Given the description of an element on the screen output the (x, y) to click on. 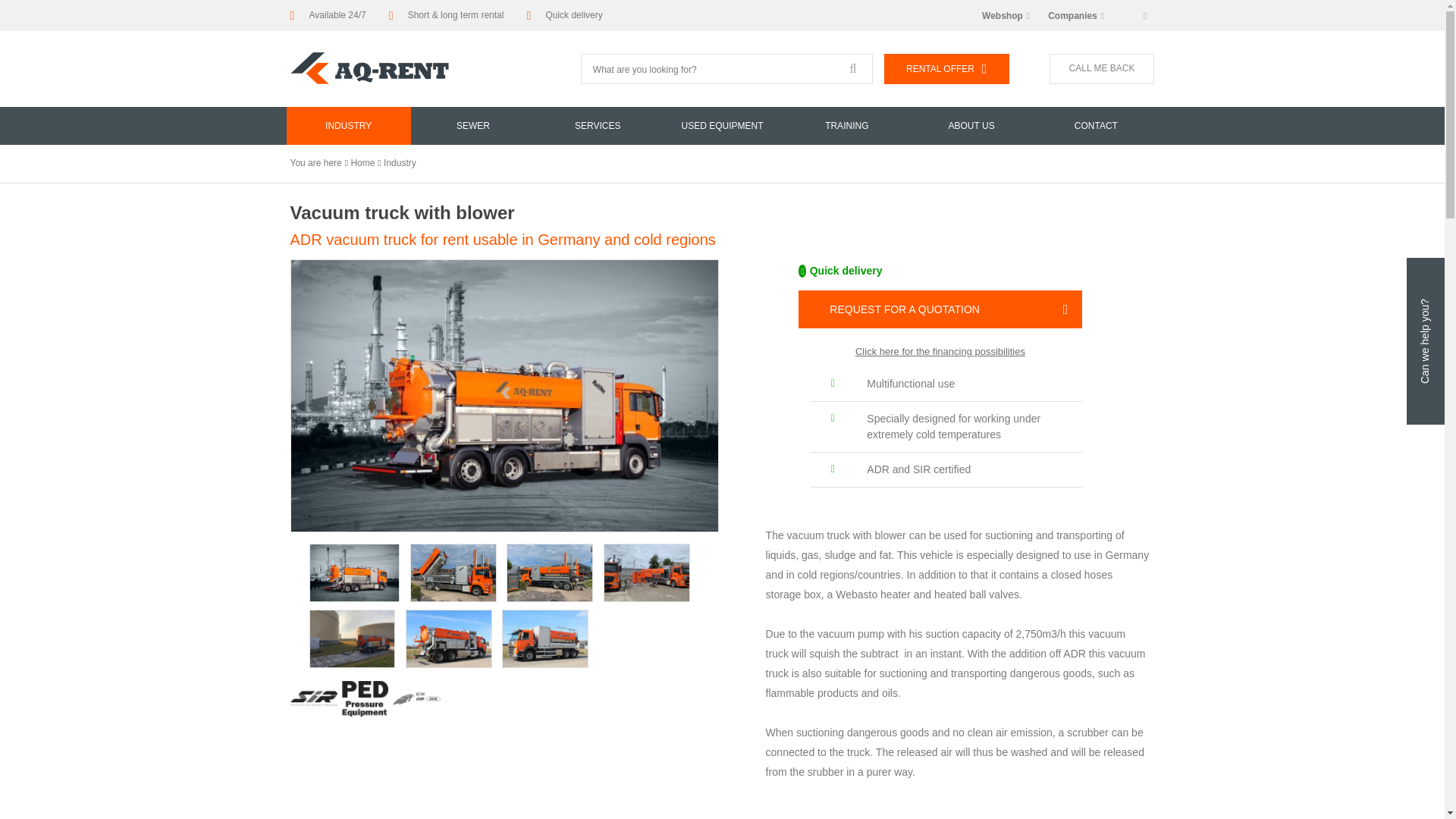
INDUSTRY (348, 125)
USED EQUIPMENT (721, 125)
CALL ME BACK (1101, 69)
Companies (1076, 15)
TRAINING (846, 125)
Industry (400, 162)
Webshop (1005, 15)
RENTAL OFFER (946, 69)
SERVICES (597, 125)
CONTACT (1095, 125)
